Given the description of an element on the screen output the (x, y) to click on. 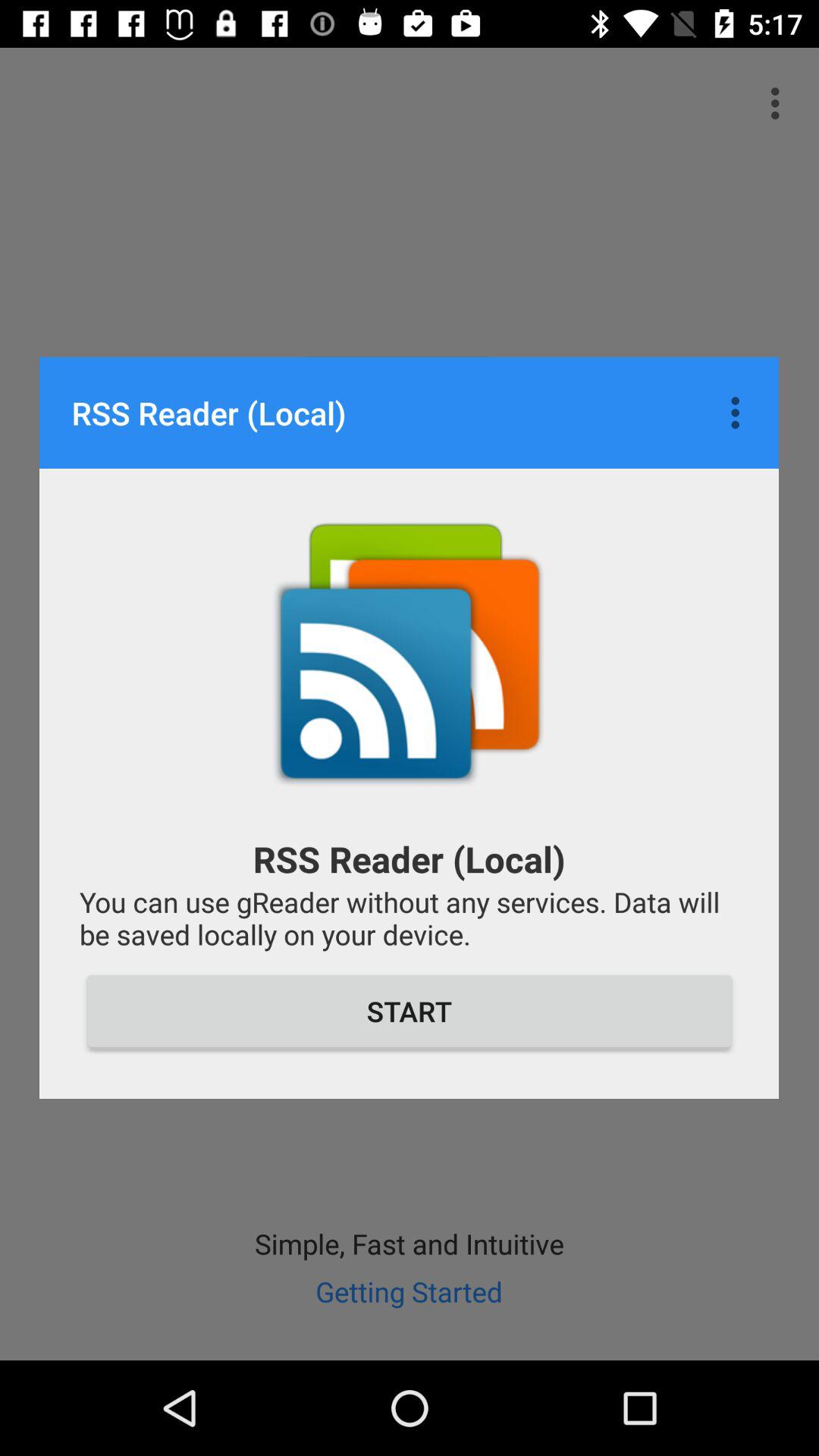
click item to the right of the rss reader (local) (739, 412)
